Given the description of an element on the screen output the (x, y) to click on. 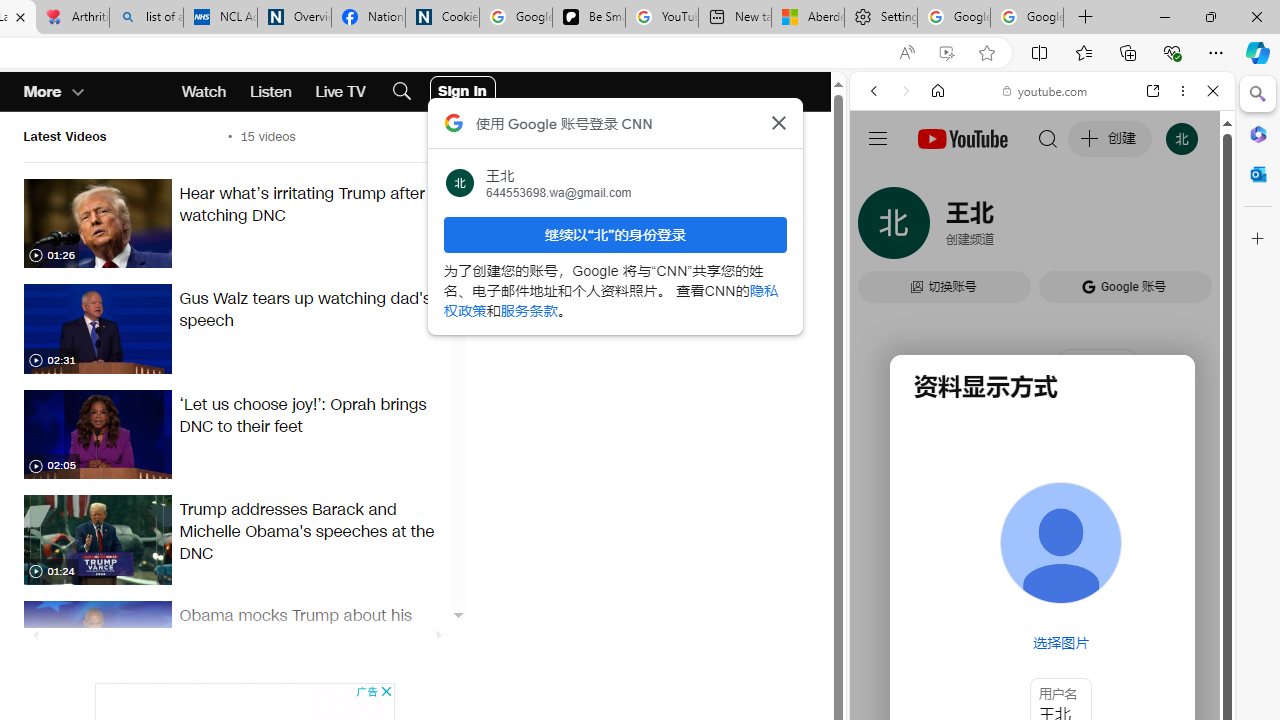
Trailer #2 [HD] (1042, 594)
Class: Bz112c Bz112c-r9oPif (778, 122)
Show More Music (1164, 546)
SEARCH TOOLS (1093, 228)
